Given the description of an element on the screen output the (x, y) to click on. 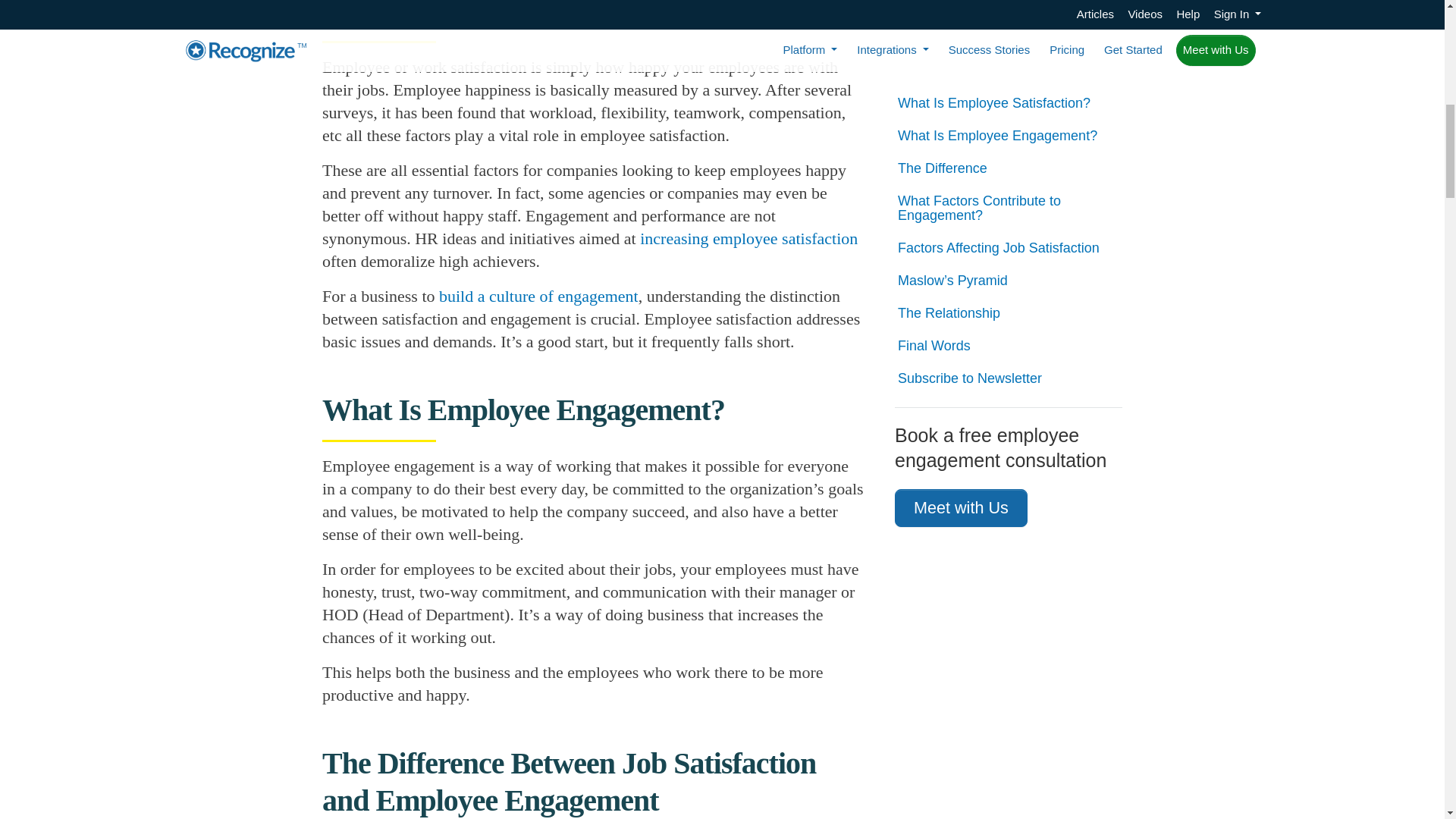
The Relationship (1008, 214)
Final Words (1008, 247)
Subscribe to Newsletter (1008, 279)
What Is Employee Satisfaction? (1008, 8)
What Is Employee Engagement? (1008, 37)
What Factors Contribute to Engagement? (1008, 109)
Factors Affecting Job Satisfaction (1008, 149)
The Difference (1008, 69)
